Given the description of an element on the screen output the (x, y) to click on. 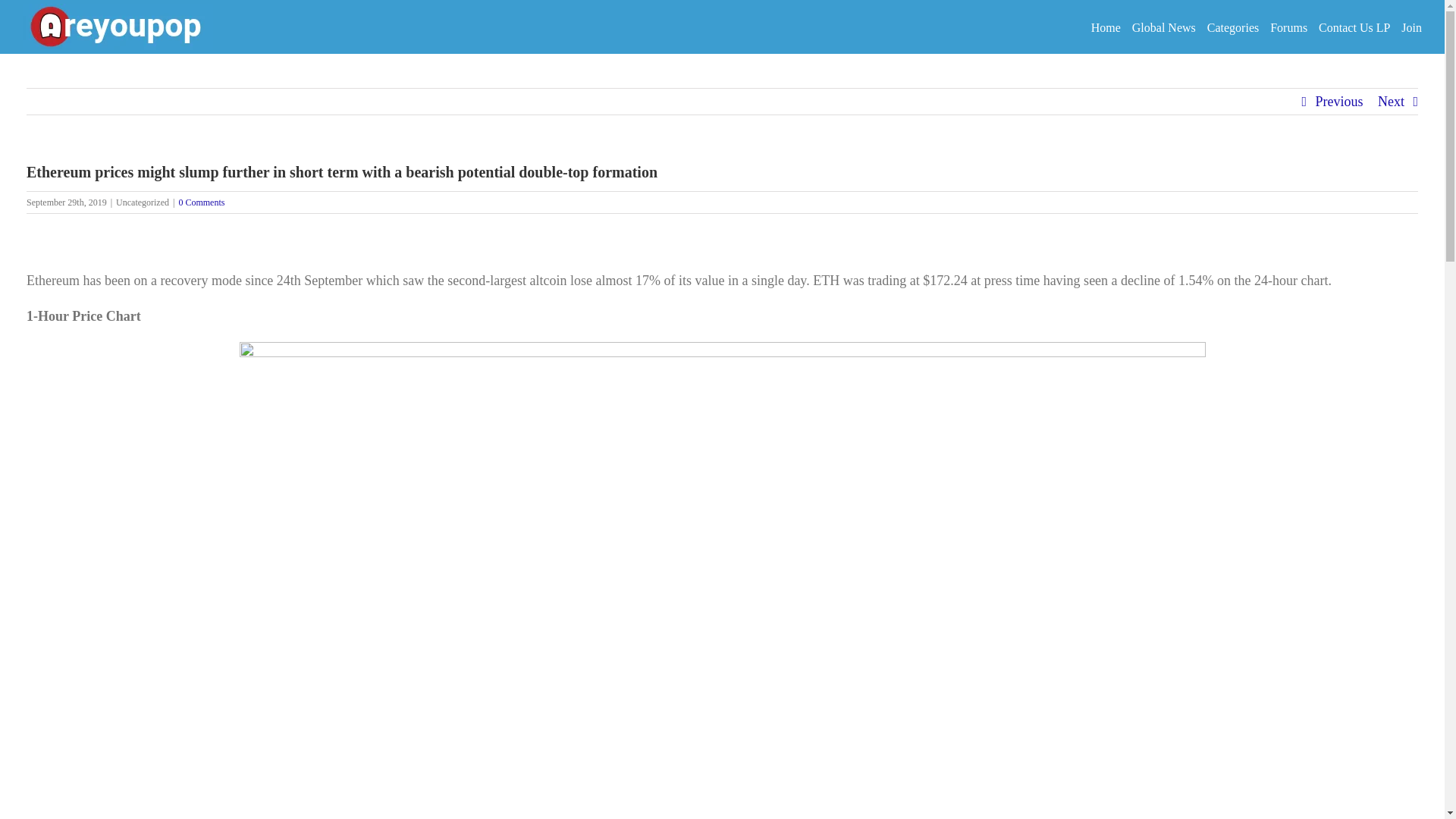
Previous (1338, 101)
Categories (1233, 27)
Global News (1163, 27)
Next (1391, 101)
Contact Us LP (1354, 27)
0 Comments (200, 202)
